Given the description of an element on the screen output the (x, y) to click on. 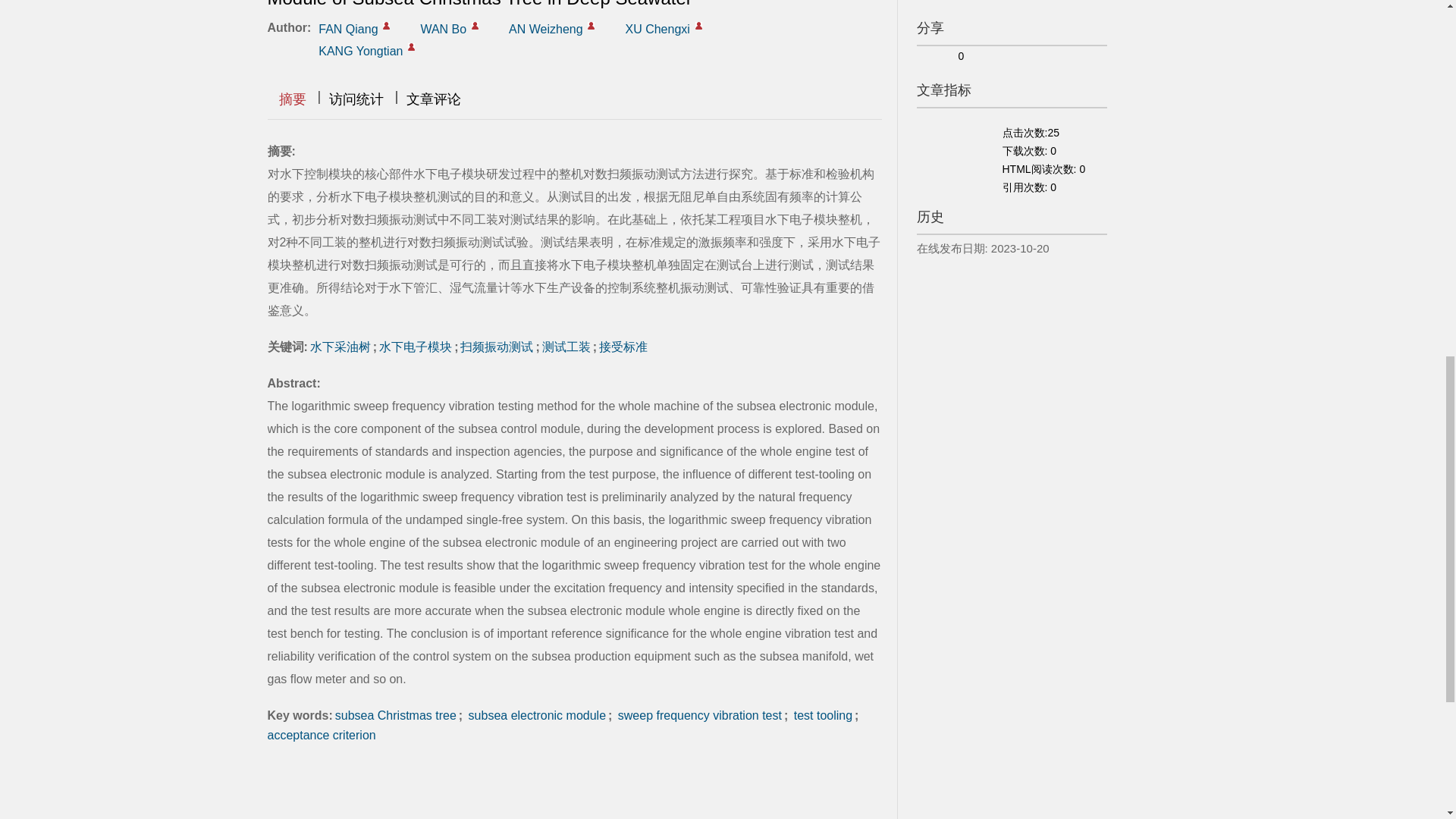
Contact author:AN Weizheng,Email:  (591, 25)
Contact author:FAN Qiang,Email:  (386, 25)
Contact author:KANG Yongtian,Email:  (410, 46)
Contact author:WAN Bo,Email:  (475, 25)
Contact author:XU Chengxi,Email:  (698, 25)
